Given the description of an element on the screen output the (x, y) to click on. 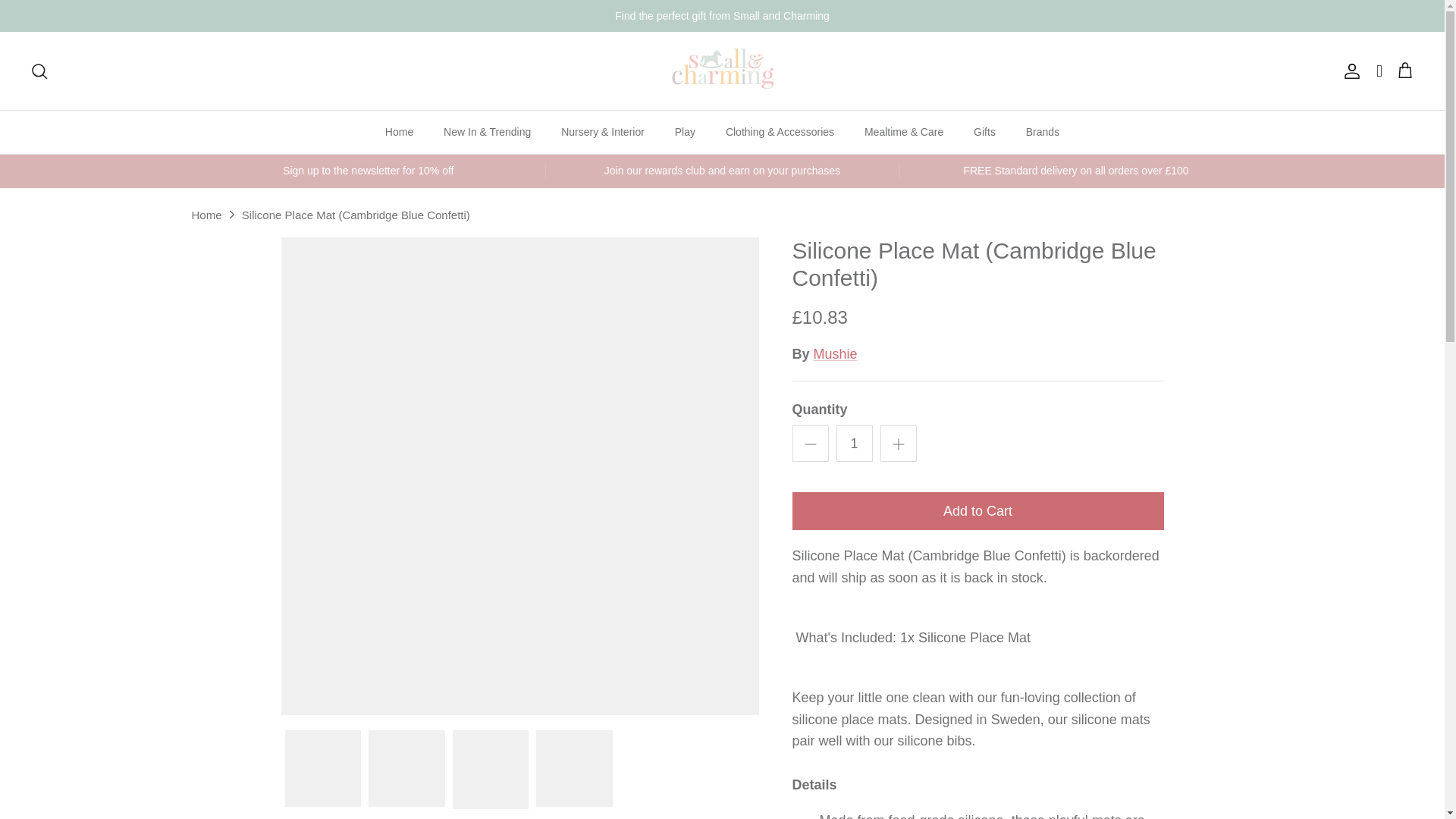
Home (398, 131)
Cart (1404, 70)
Search (39, 70)
small and charming (721, 70)
Account (1348, 70)
1 (853, 443)
Plus (897, 443)
Minus (809, 443)
